Given the description of an element on the screen output the (x, y) to click on. 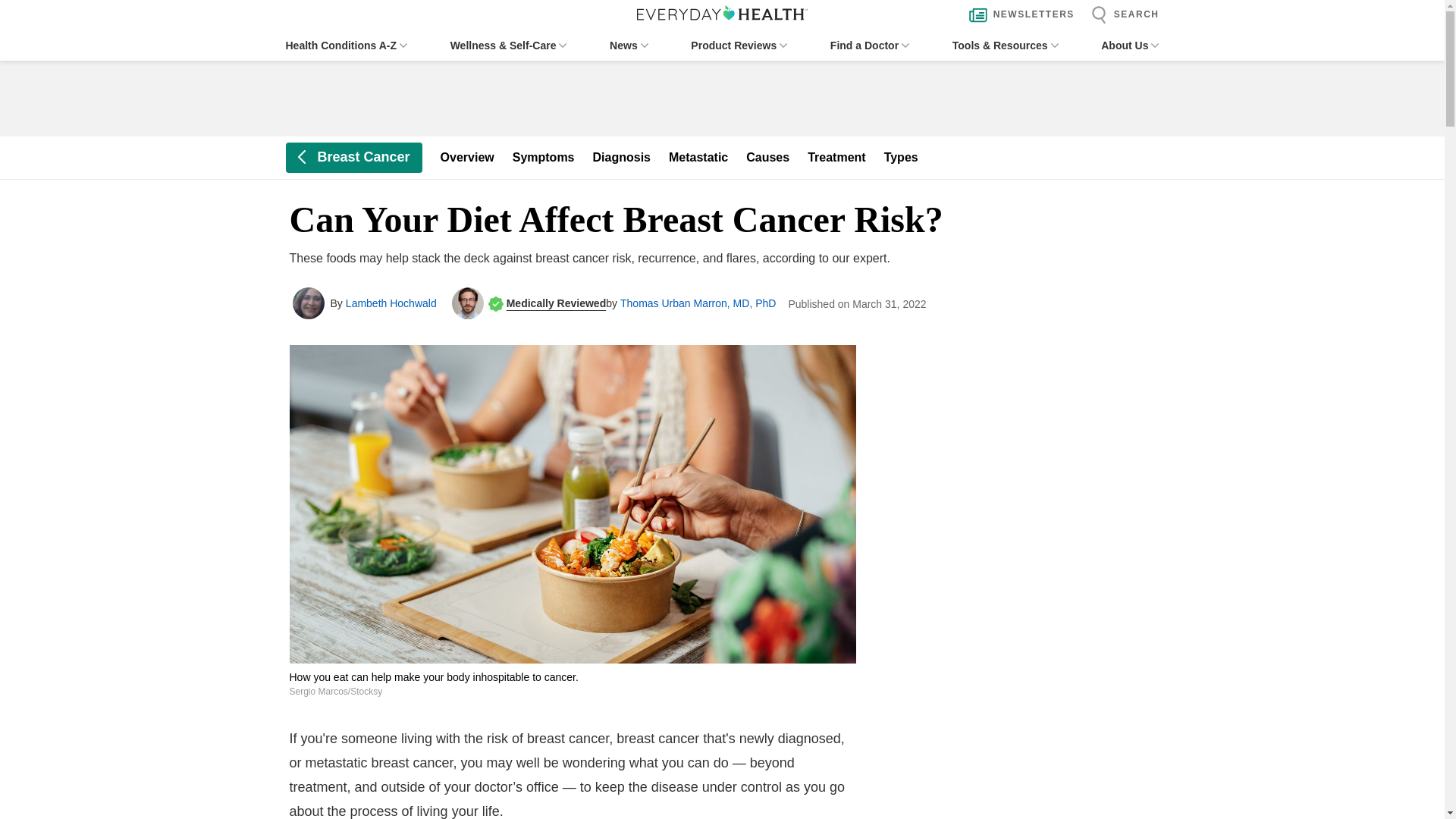
About Us (1129, 45)
Find a Doctor (868, 45)
Product Reviews (738, 45)
Health Conditions A-Z (345, 45)
SEARCH (1120, 15)
NEWSLETTERS (1018, 15)
News (628, 45)
